Given the description of an element on the screen output the (x, y) to click on. 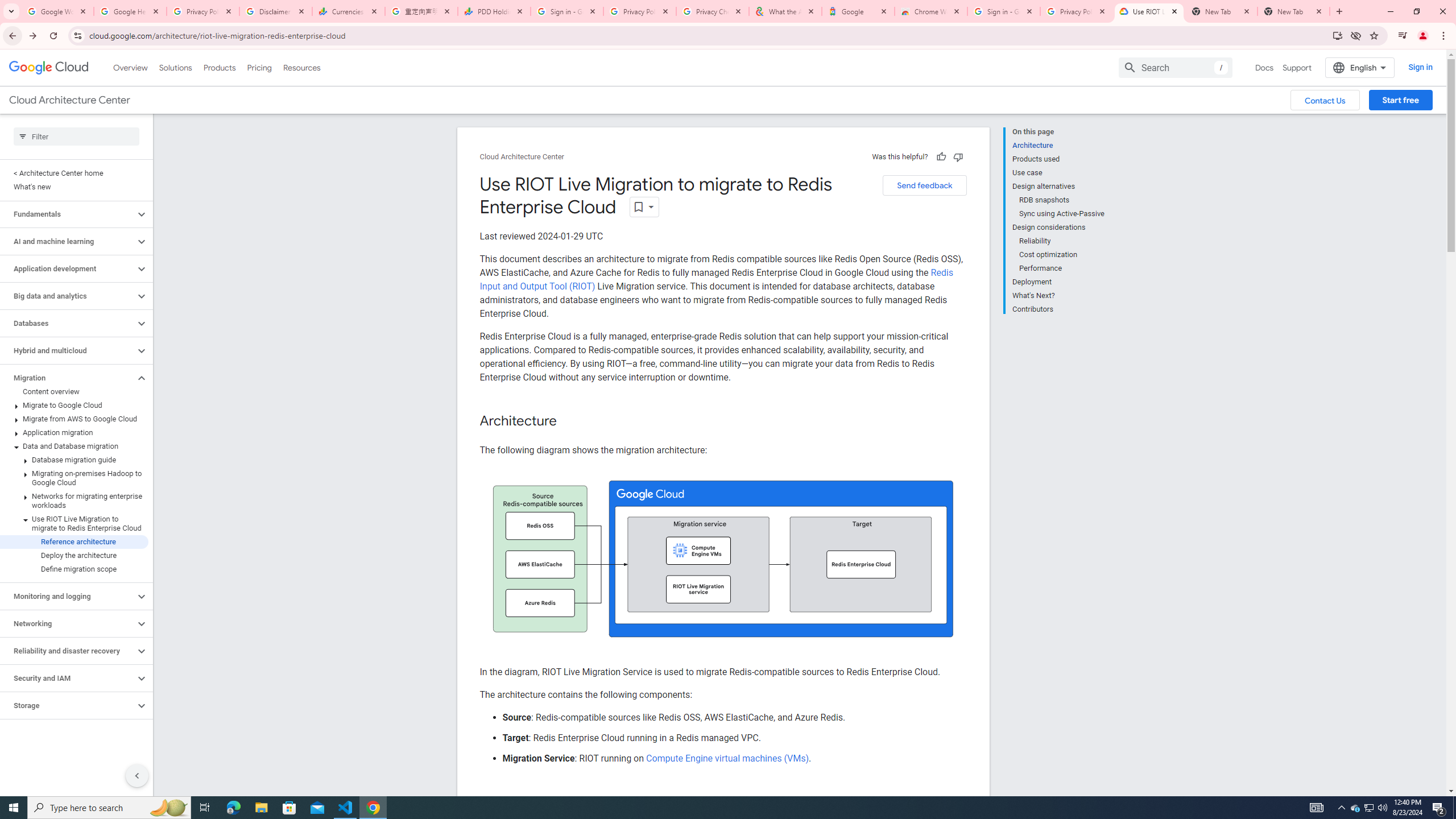
Type to filter (76, 136)
Use RIOT Live Migration to migrate to Redis Enterprise Cloud (74, 523)
RDB snapshots (1062, 200)
Open dropdown (643, 206)
Database migration guide (74, 459)
What's new (74, 187)
Solutions (175, 67)
Migrate from AWS to Google Cloud (74, 418)
Deploy the architecture (74, 555)
